Given the description of an element on the screen output the (x, y) to click on. 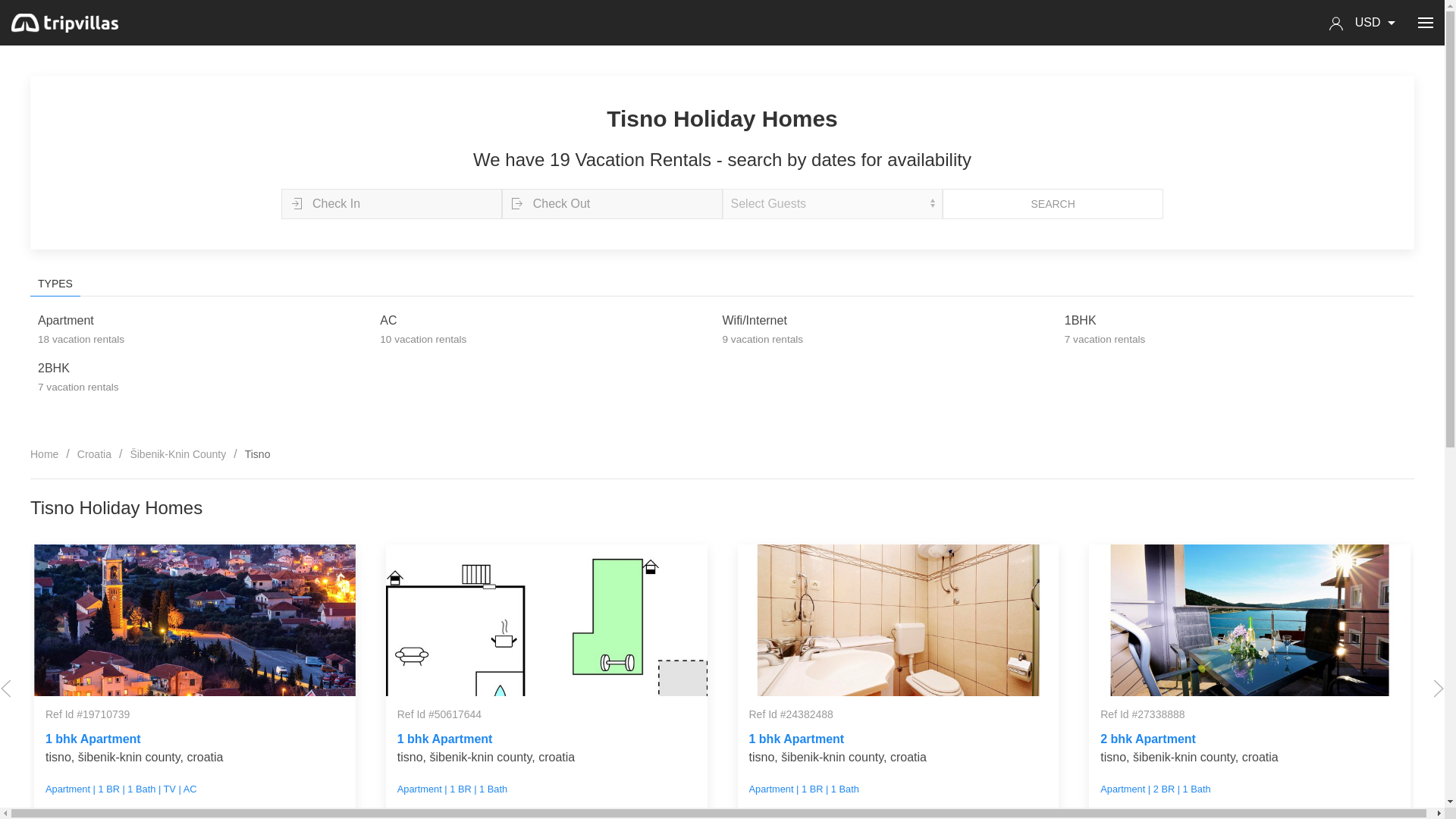
1BHK holiday homes (1104, 328)
USD (1377, 21)
AC holiday homes (422, 328)
2BHK holiday homes (78, 377)
Apartment holiday homes (80, 328)
